Given the description of an element on the screen output the (x, y) to click on. 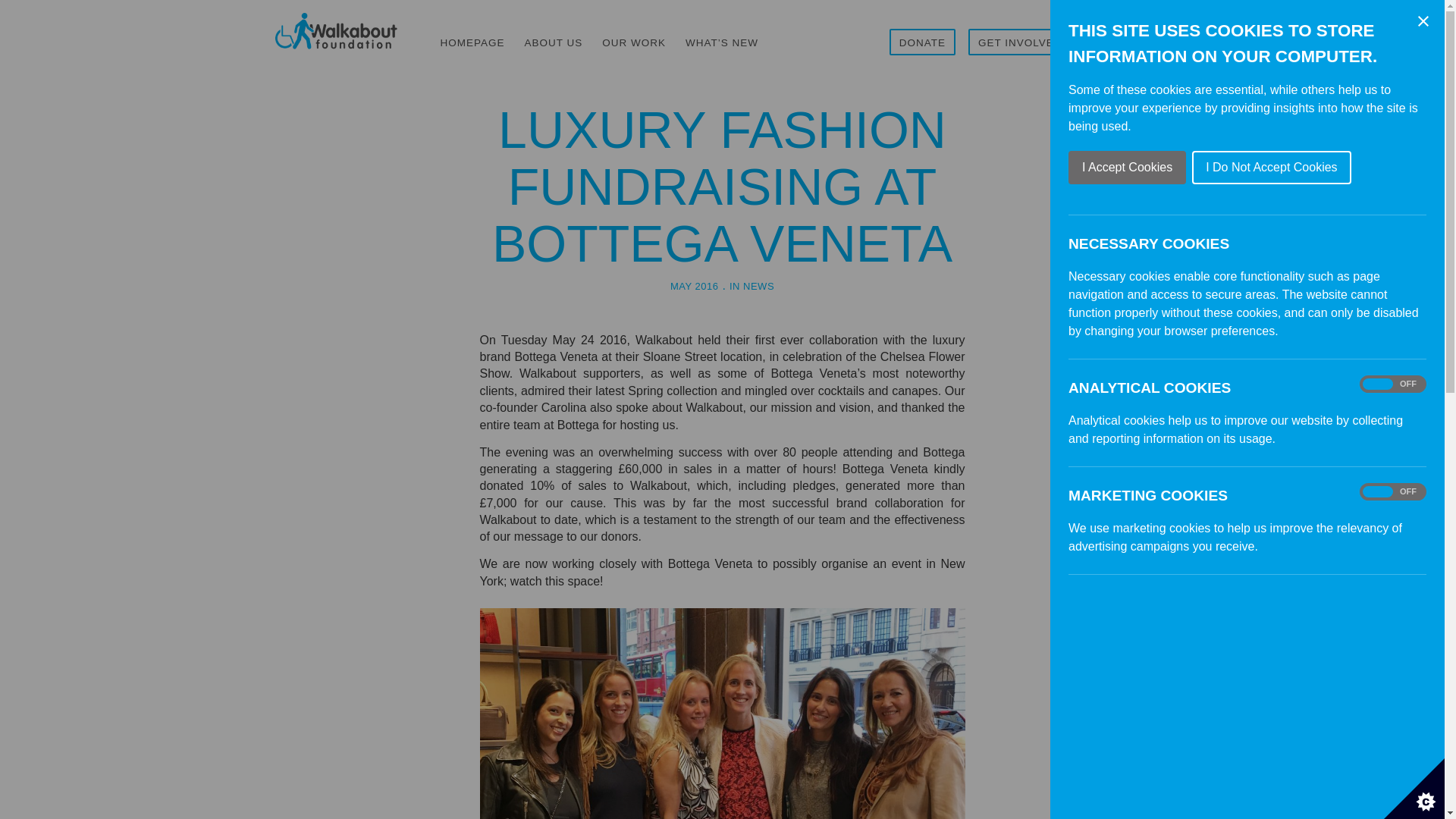
Permanent Link: Luxury fashion fundraising at Bottega Veneta (722, 185)
GET INVOLVED (1019, 33)
LUXURY FASHION FUNDRAISING AT BOTTEGA VENETA (722, 185)
NEWS (758, 285)
HOMEPAGE (472, 33)
ABOUT US (553, 33)
OUR WORK (633, 33)
LOGIN (1110, 33)
DONATE (922, 33)
